Given the description of an element on the screen output the (x, y) to click on. 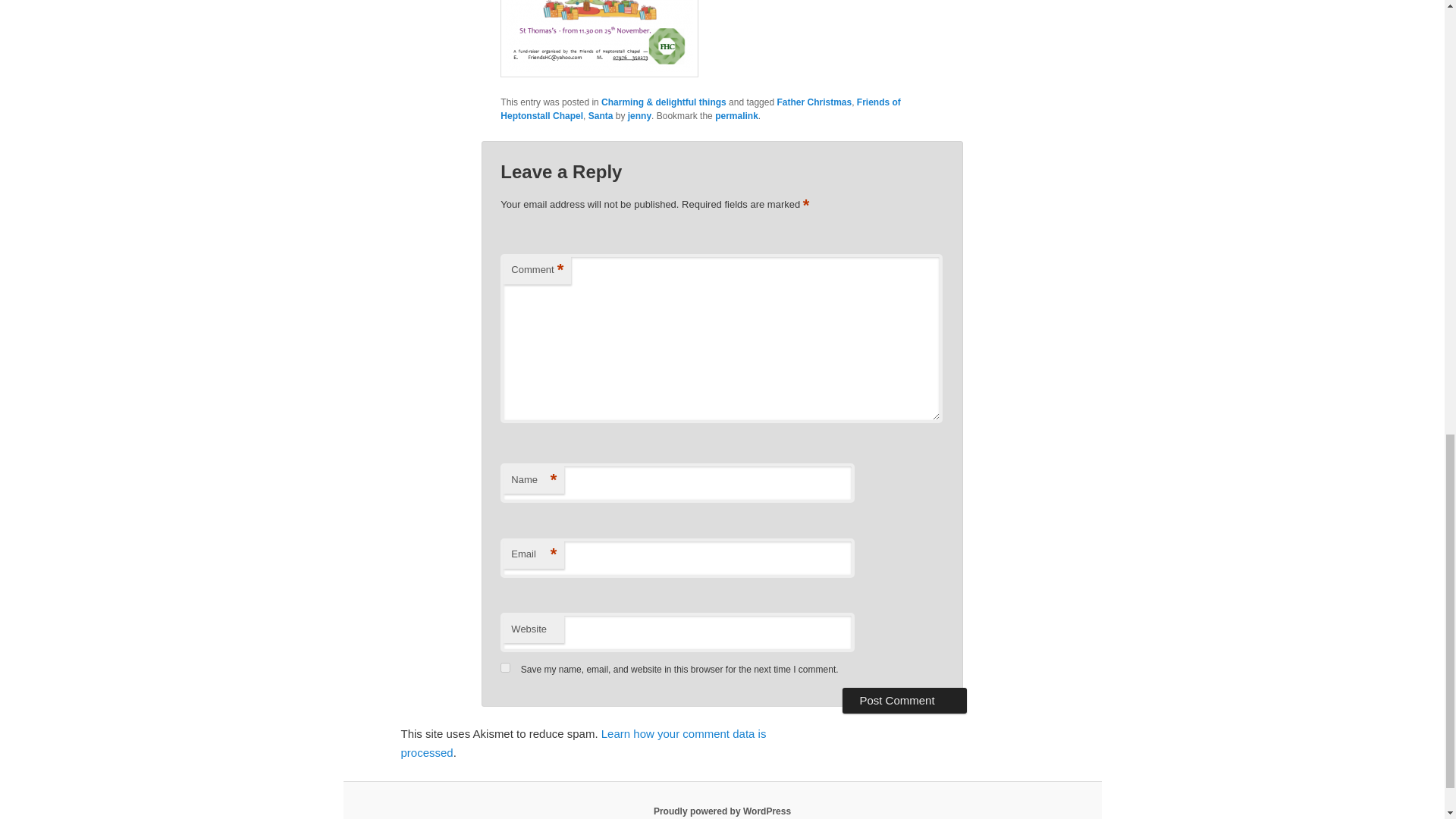
Father Christmas (813, 102)
Enter email address (1348, 7)
Semantic Personal Publishing Platform (721, 810)
yes (505, 667)
Permalink to Santa in Heptonstall 25th November (736, 115)
Post Comment (904, 700)
Friends of Heptonstall Chapel (700, 109)
Sign me up! (1349, 35)
